Given the description of an element on the screen output the (x, y) to click on. 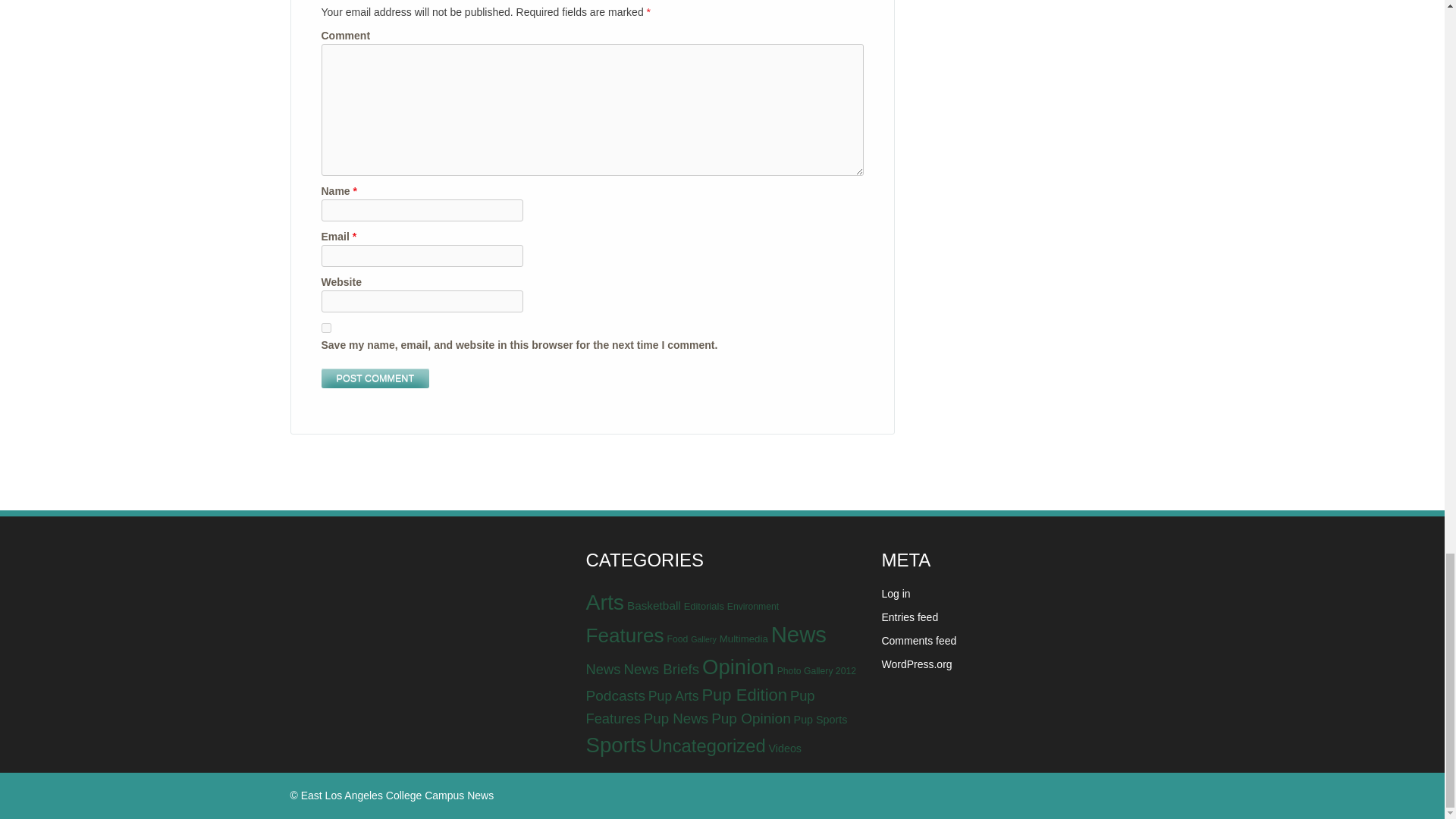
Post Comment (375, 378)
yes (326, 327)
Post Comment (375, 378)
